Given the description of an element on the screen output the (x, y) to click on. 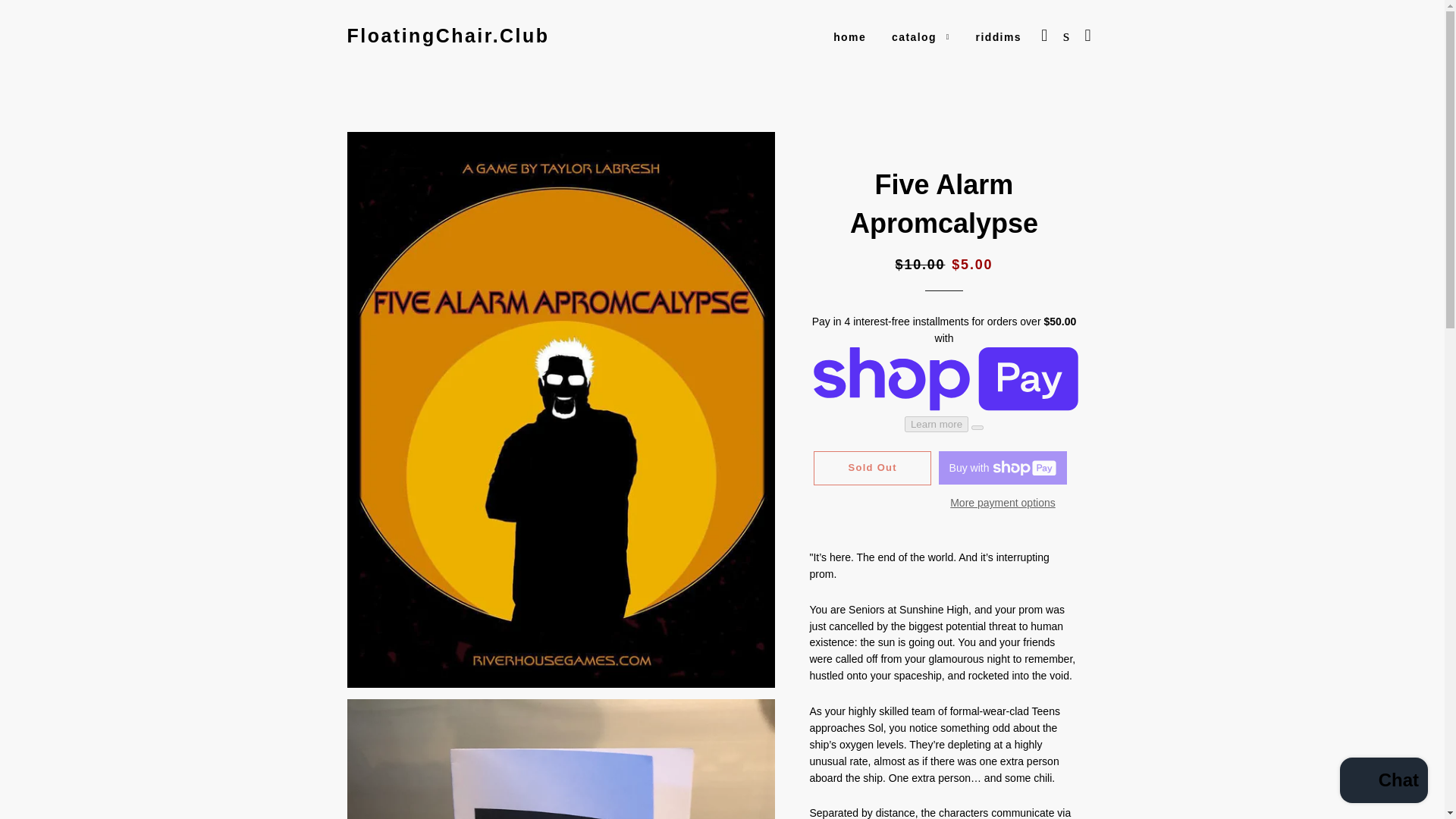
home (849, 37)
riddims (997, 37)
More payment options (1003, 503)
Shopify online store chat (1383, 781)
catalog (920, 37)
FloatingChair.Club (448, 35)
Sold Out (872, 467)
